Given the description of an element on the screen output the (x, y) to click on. 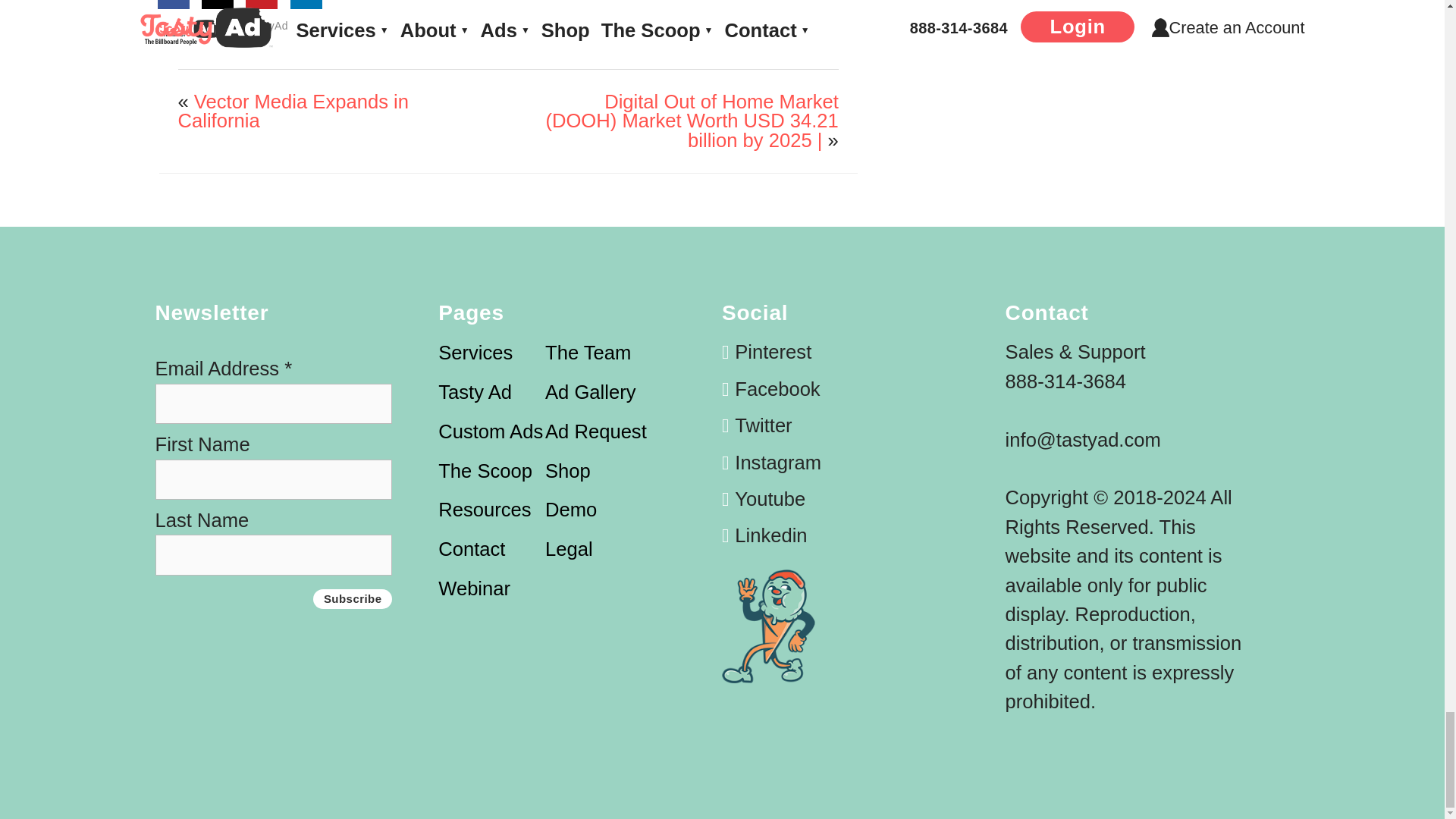
Share on LinkedIn (306, 4)
Save to Pinterest (262, 4)
Subscribe (353, 598)
Share on Facebook (173, 4)
Share on X (217, 4)
